Given the description of an element on the screen output the (x, y) to click on. 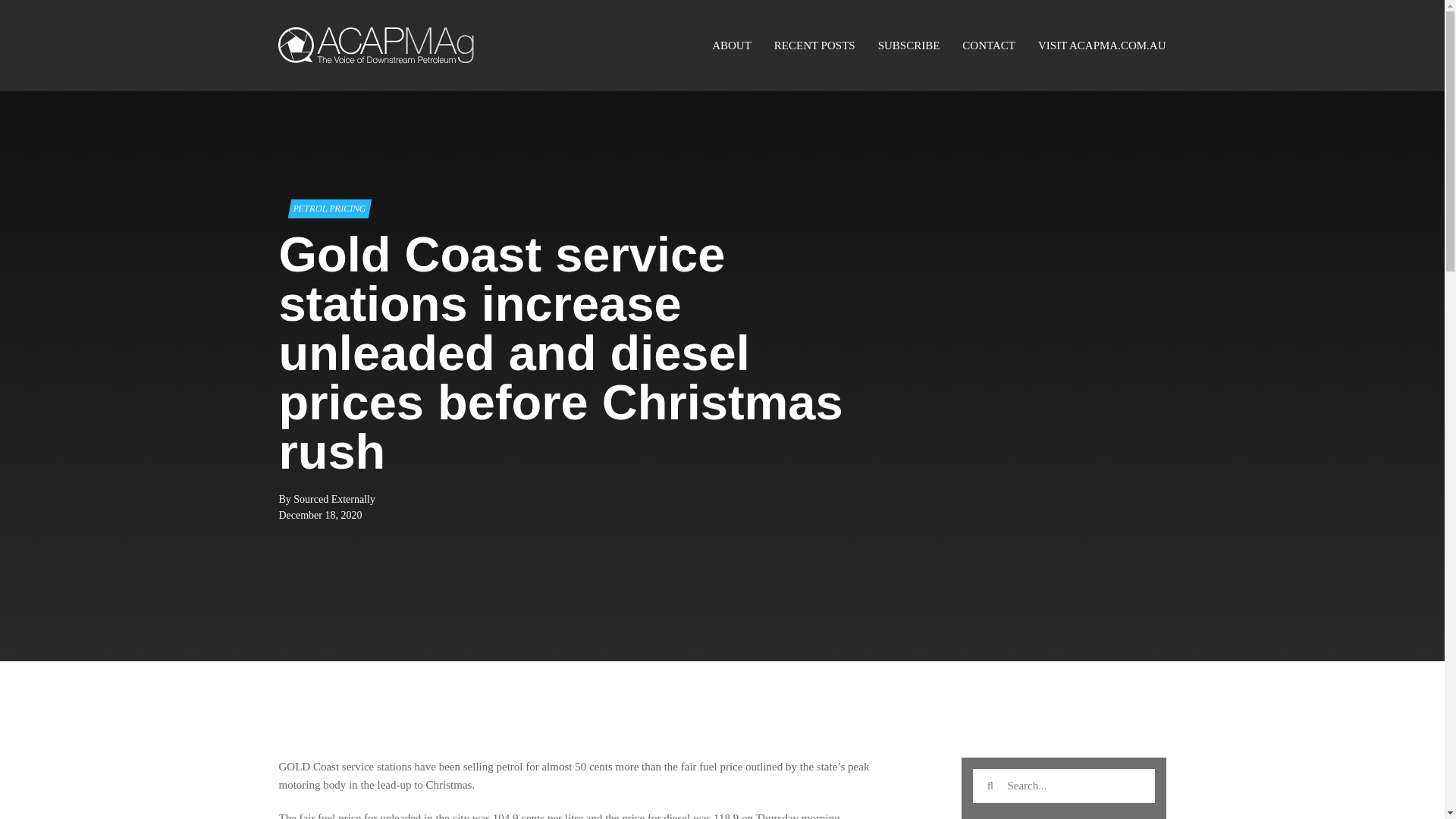
SUBSCRIBE (908, 44)
RECENT POSTS (815, 44)
CONTACT (988, 44)
PETROL PRICING (328, 208)
VISIT ACAPMA.COM.AU (1102, 44)
ABOUT (731, 44)
